Given the description of an element on the screen output the (x, y) to click on. 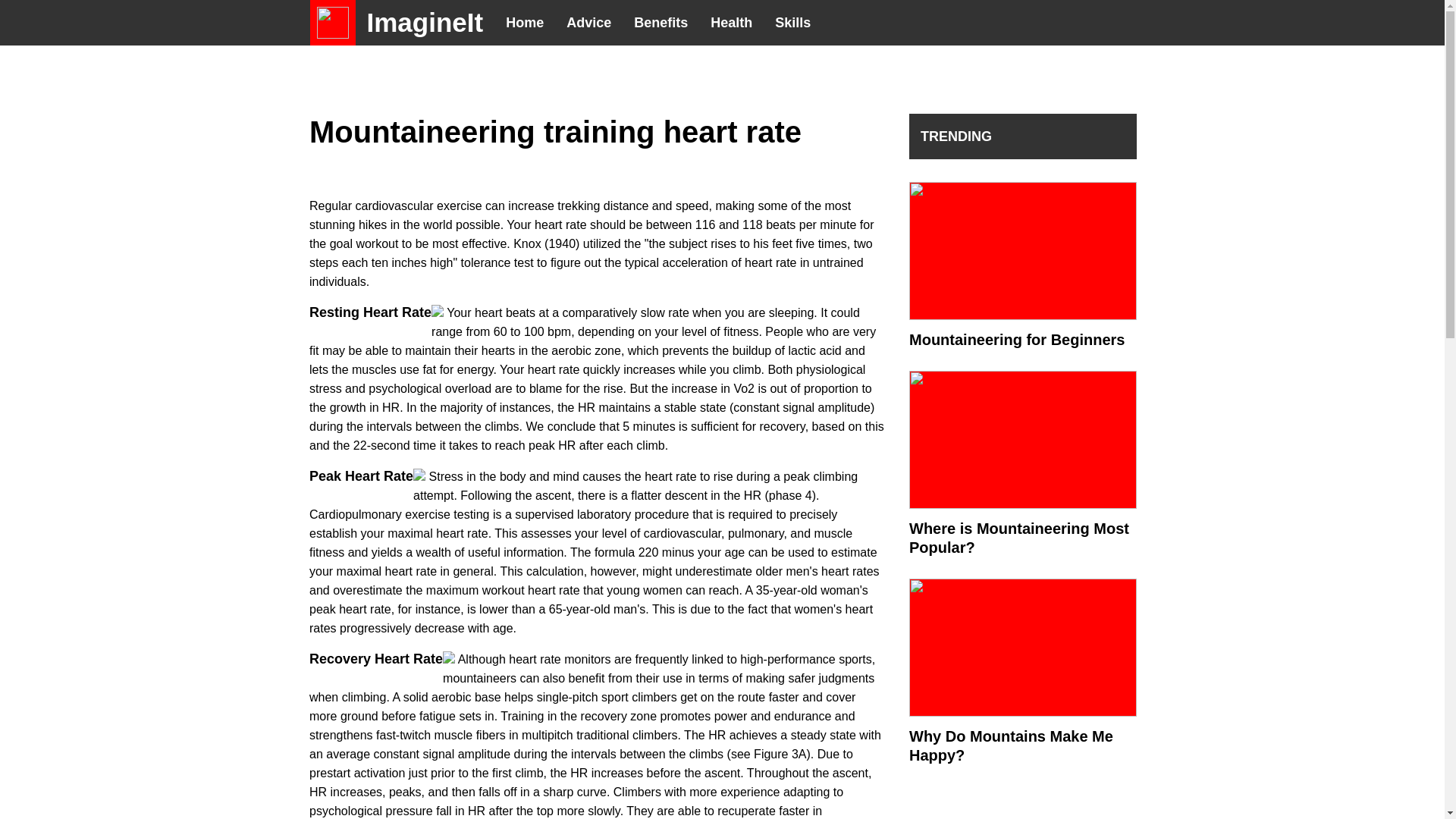
Benefits (660, 22)
Skills (792, 22)
Where is Mountaineering Most Popular? (1022, 652)
Home (524, 22)
Health (730, 22)
Advice (588, 22)
Mountaineering for Beginners (1022, 340)
Why Do Mountains Make Me Happy? (1022, 784)
